Given the description of an element on the screen output the (x, y) to click on. 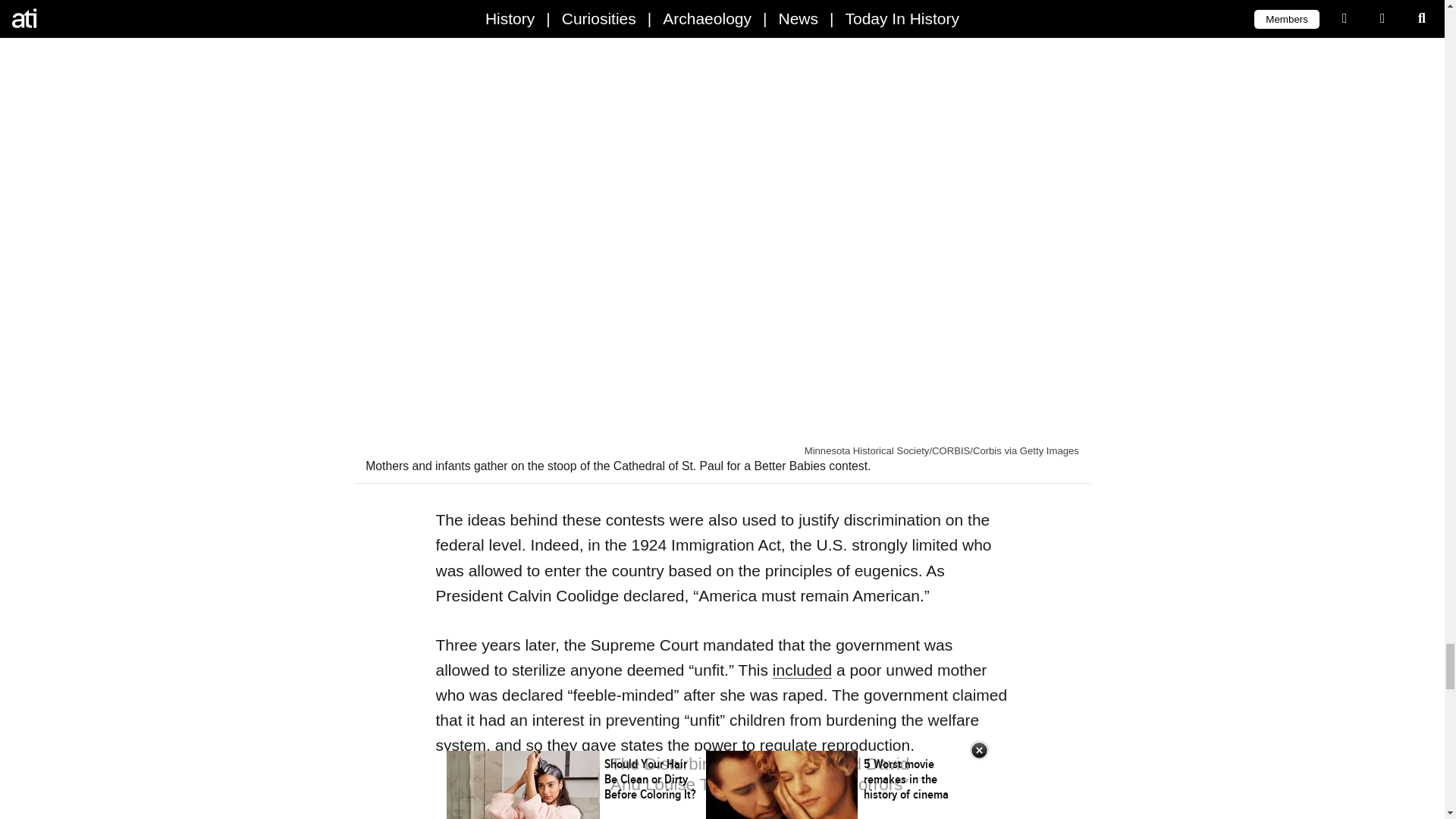
included (802, 669)
